Given the description of an element on the screen output the (x, y) to click on. 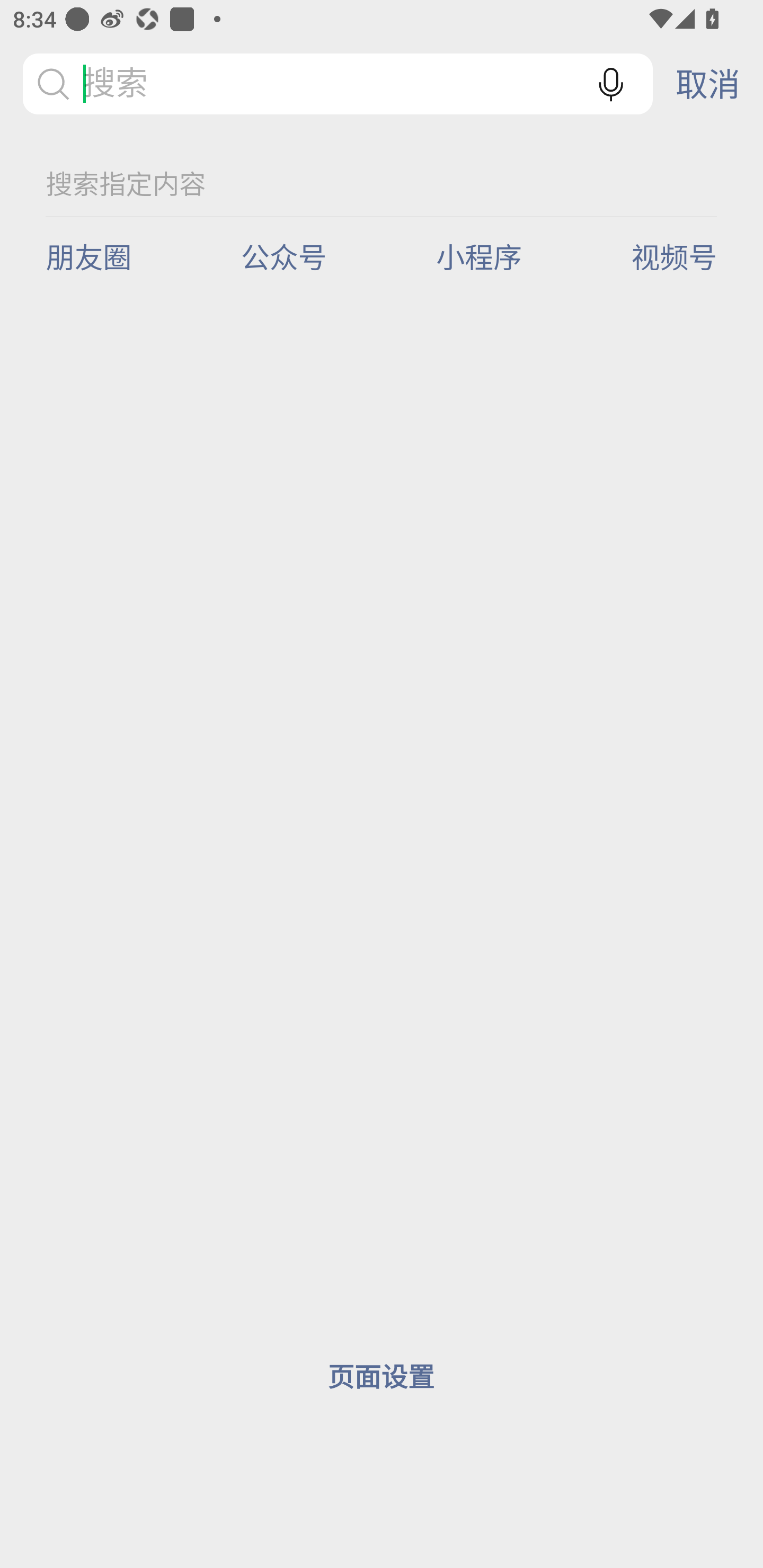
取消 取消按钮 (708, 83)
搜索 (337, 83)
语音搜索 (611, 83)
朋友圈 (95, 255)
公众号 (291, 255)
小程序 (485, 255)
视频号 (673, 255)
页面设置 (380, 1375)
